Given the description of an element on the screen output the (x, y) to click on. 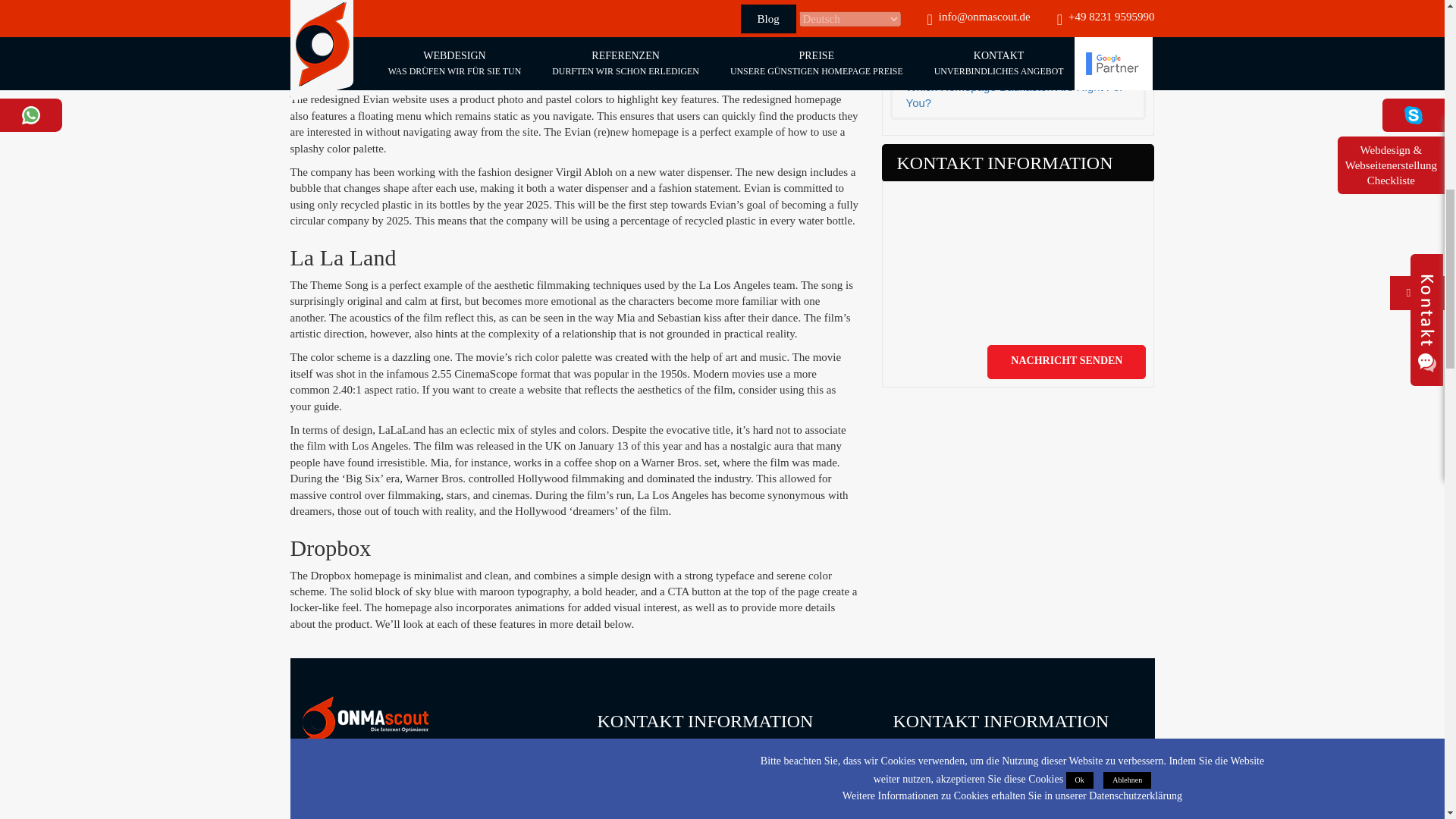
Which Homepage Baukasten Are Right For You? (1018, 93)
9 Key Elements of Corporate Design (1018, 8)
Nachricht Senden (1066, 361)
Nachricht Senden (1066, 361)
OnmaScout (365, 722)
Jobs Available For a Graphikdesigner (1018, 41)
